Given the description of an element on the screen output the (x, y) to click on. 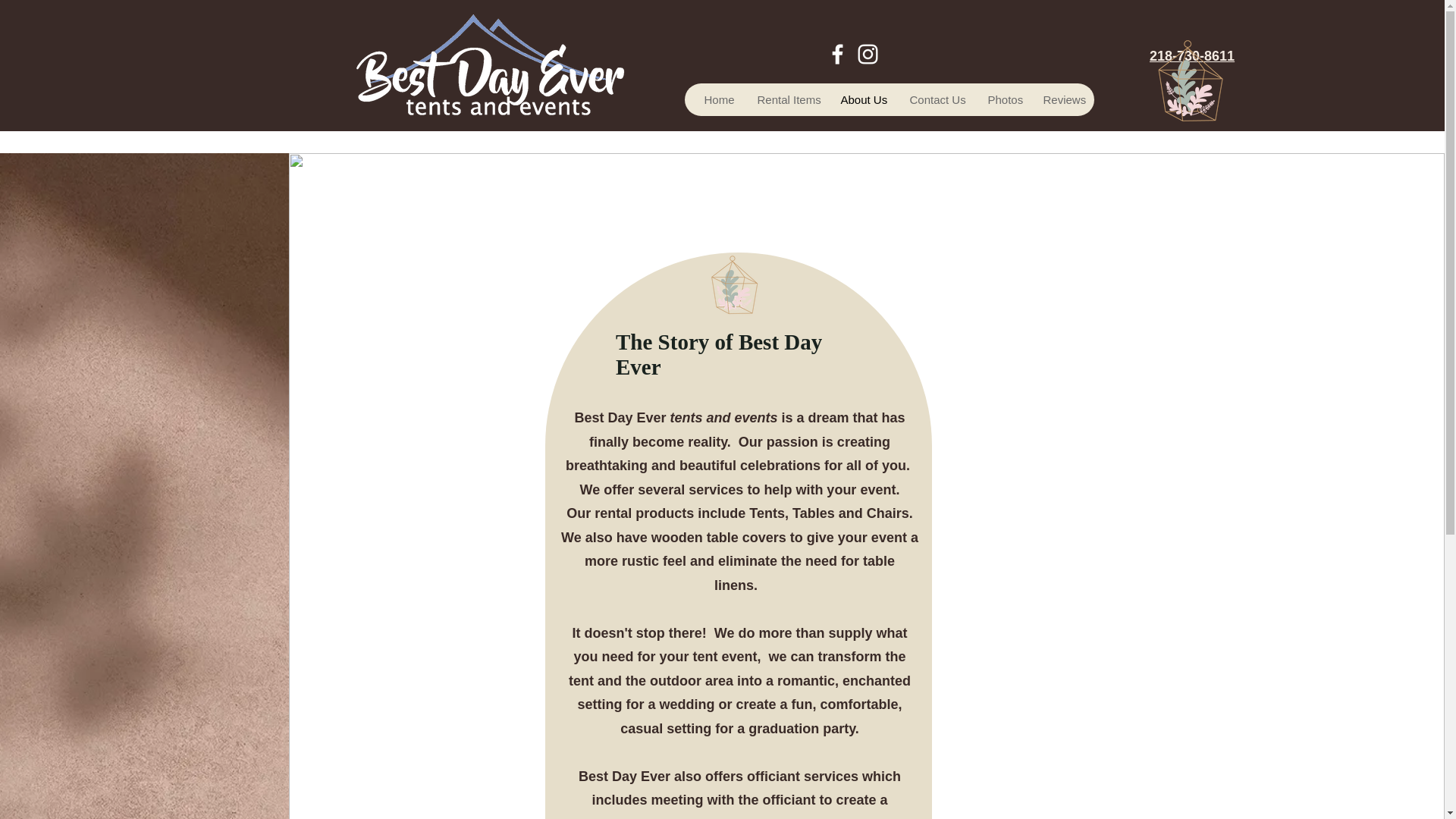
Reviews (1062, 99)
About Us (862, 99)
Contact Us (936, 99)
Photos (1002, 99)
218-730-8611 (1192, 55)
Rental Items (786, 99)
Home (717, 99)
Facebook Like (93, 38)
